Given the description of an element on the screen output the (x, y) to click on. 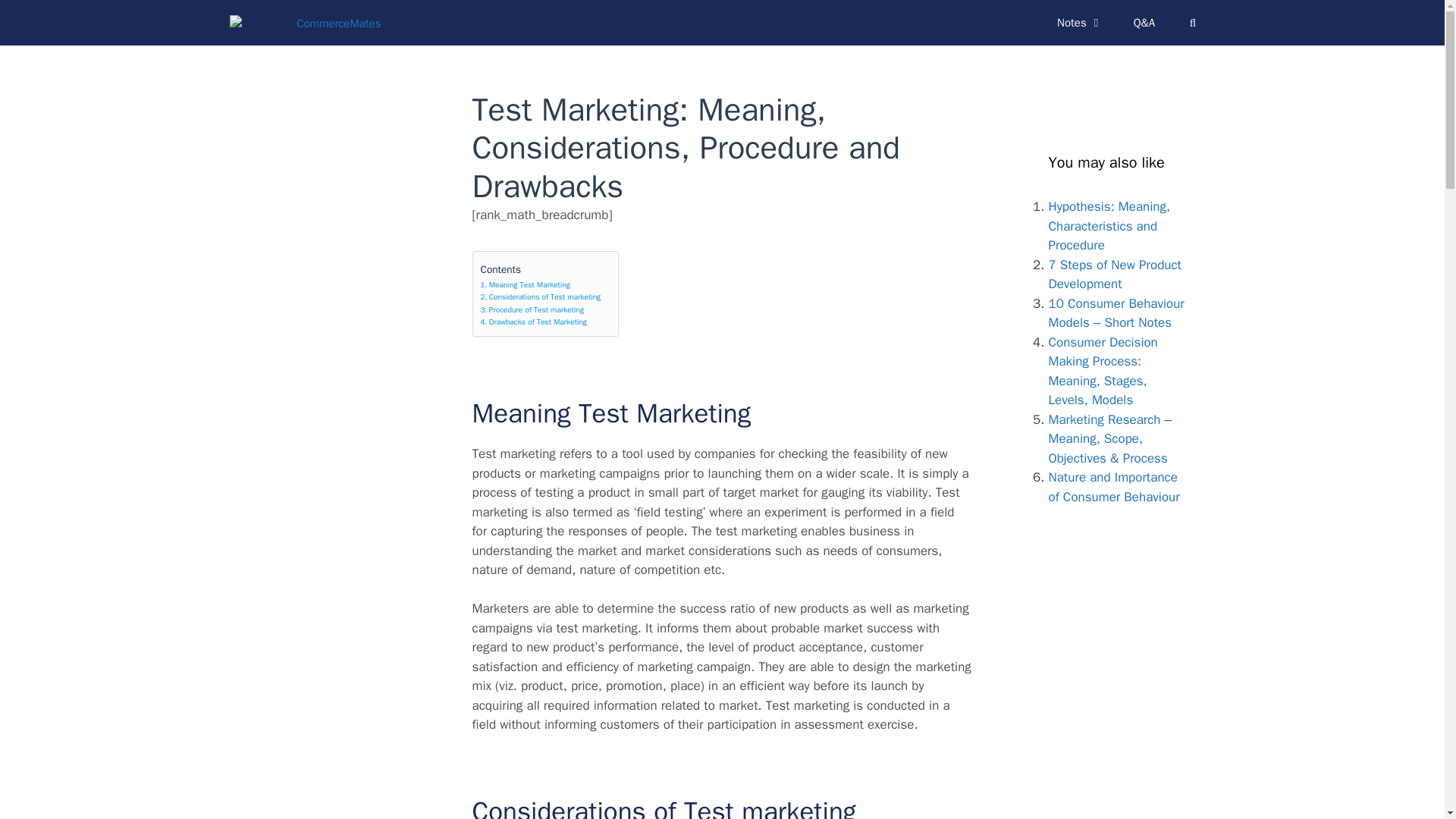
Notes (1080, 22)
Meaning Test Marketing (525, 285)
Procedure of Test marketing (532, 309)
Drawbacks of Test Marketing (533, 322)
CommerceMates (304, 22)
CommerceMates (308, 22)
